Given the description of an element on the screen output the (x, y) to click on. 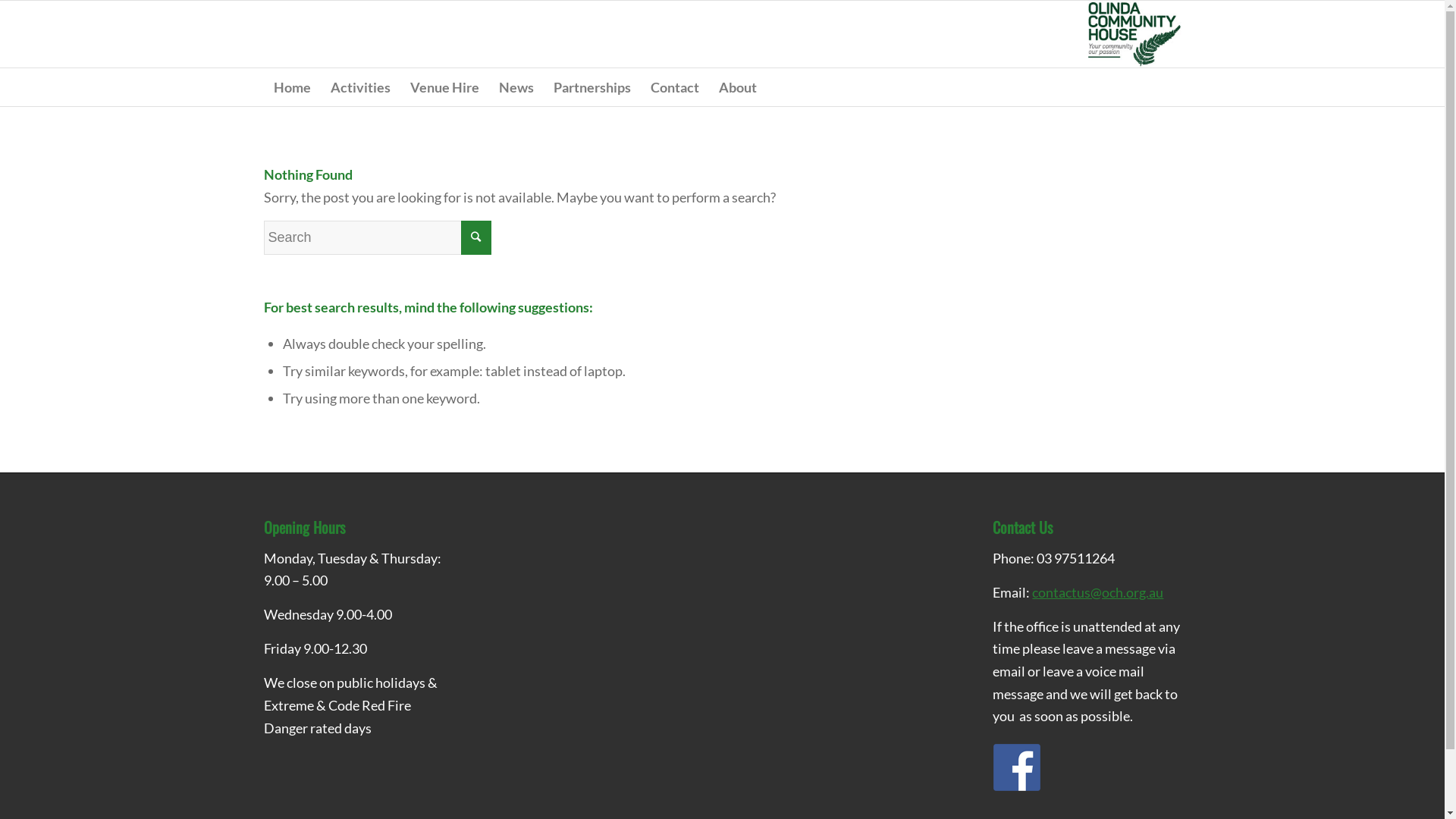
Partnerships Element type: text (591, 87)
Contact Element type: text (674, 87)
contactus@och.org.au Element type: text (1097, 591)
Home Element type: text (291, 87)
About Element type: text (736, 87)
Venue Hire Element type: text (444, 87)
Facebook_64x64_01 Element type: hover (1016, 767)
Activities Element type: text (359, 87)
News Element type: text (515, 87)
